Given the description of an element on the screen output the (x, y) to click on. 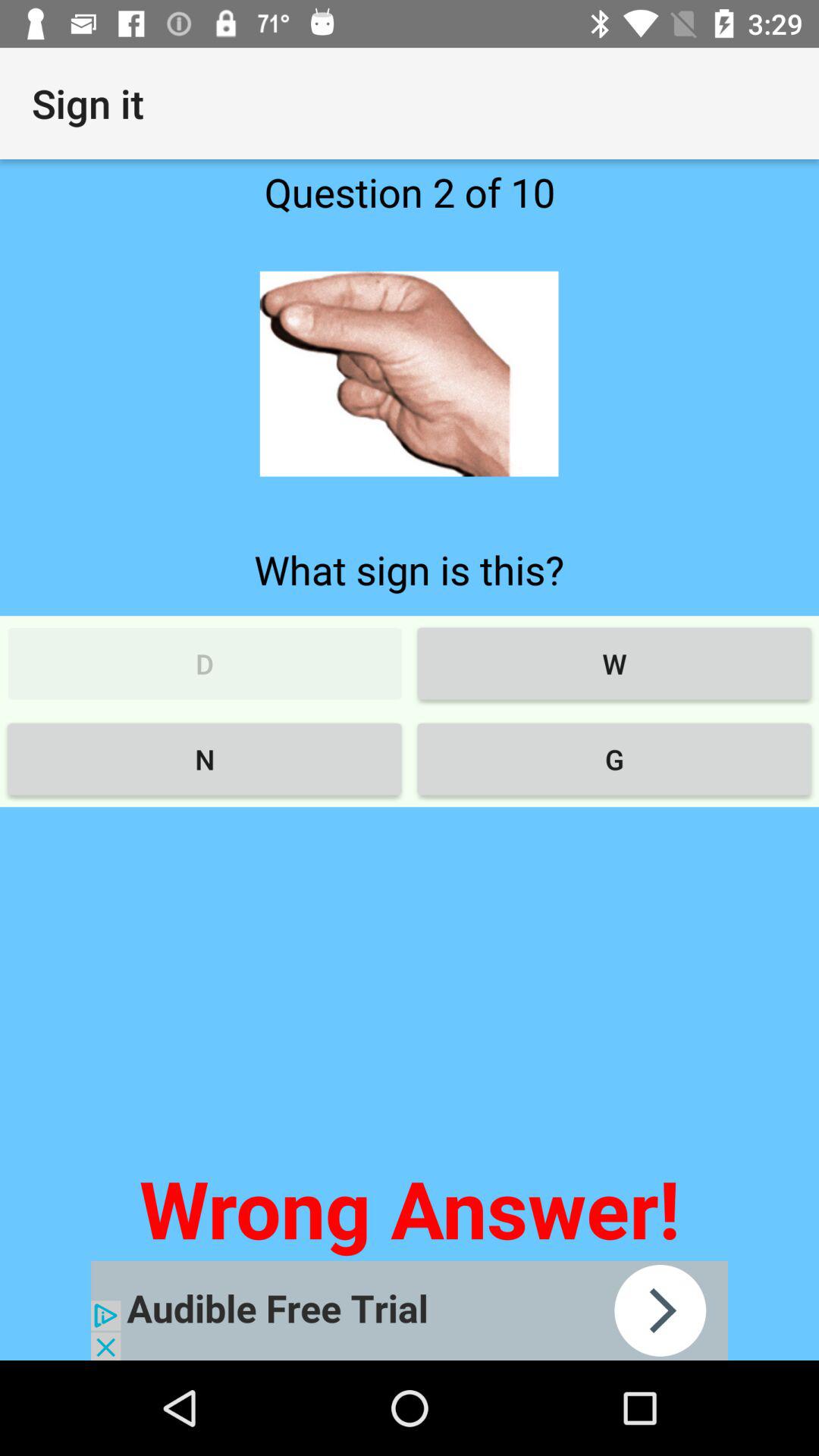
advertisement page (409, 1310)
